Given the description of an element on the screen output the (x, y) to click on. 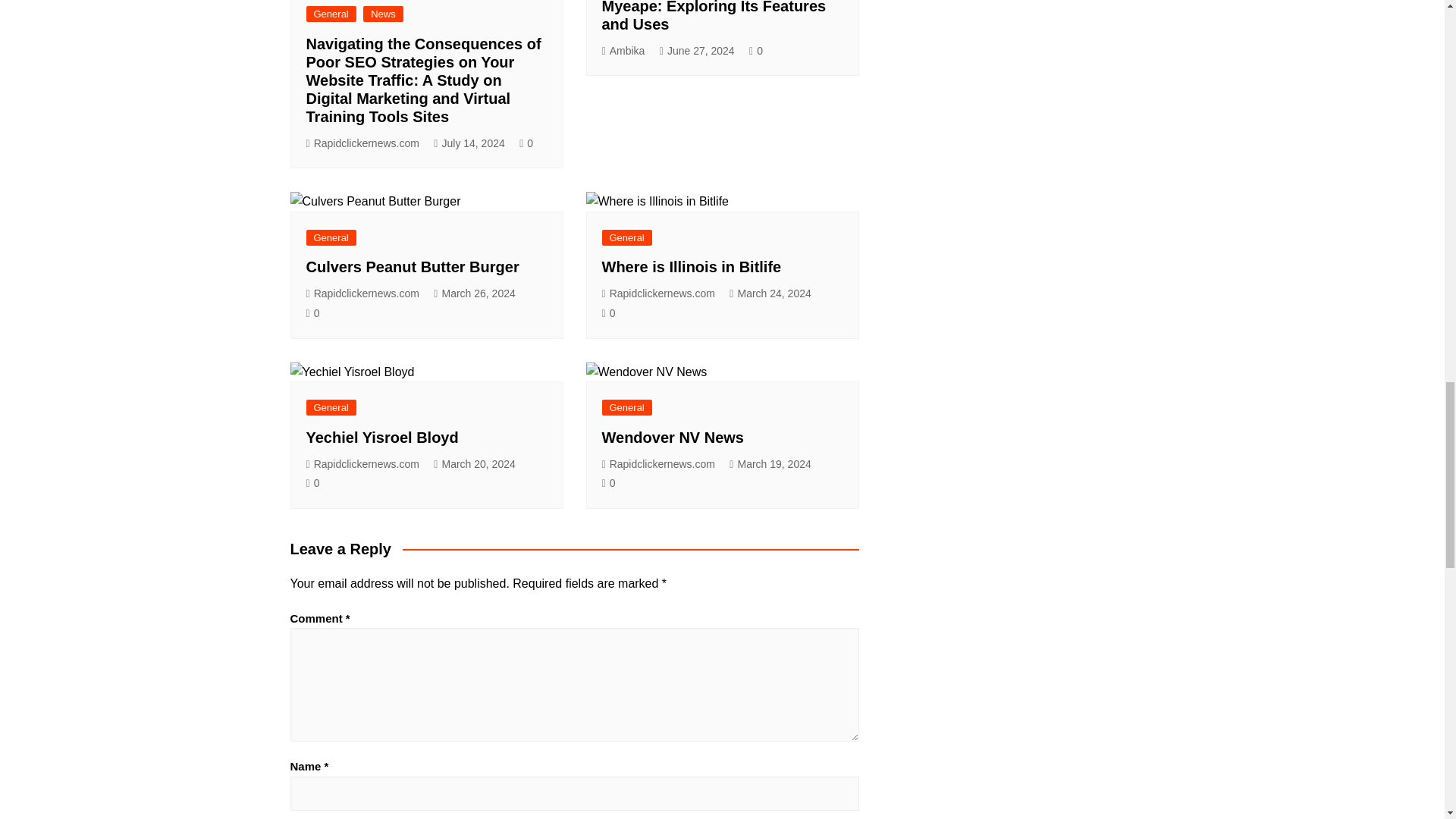
Ambika (623, 50)
Rapidclickernews.com (362, 143)
General (330, 237)
Rapidclickernews.com (362, 293)
Culvers Peanut Butter Burger (412, 266)
News (382, 13)
July 14, 2024 (468, 143)
General (330, 13)
June 27, 2024 (697, 50)
Myeape: Exploring Its Features and Uses (714, 15)
